Given the description of an element on the screen output the (x, y) to click on. 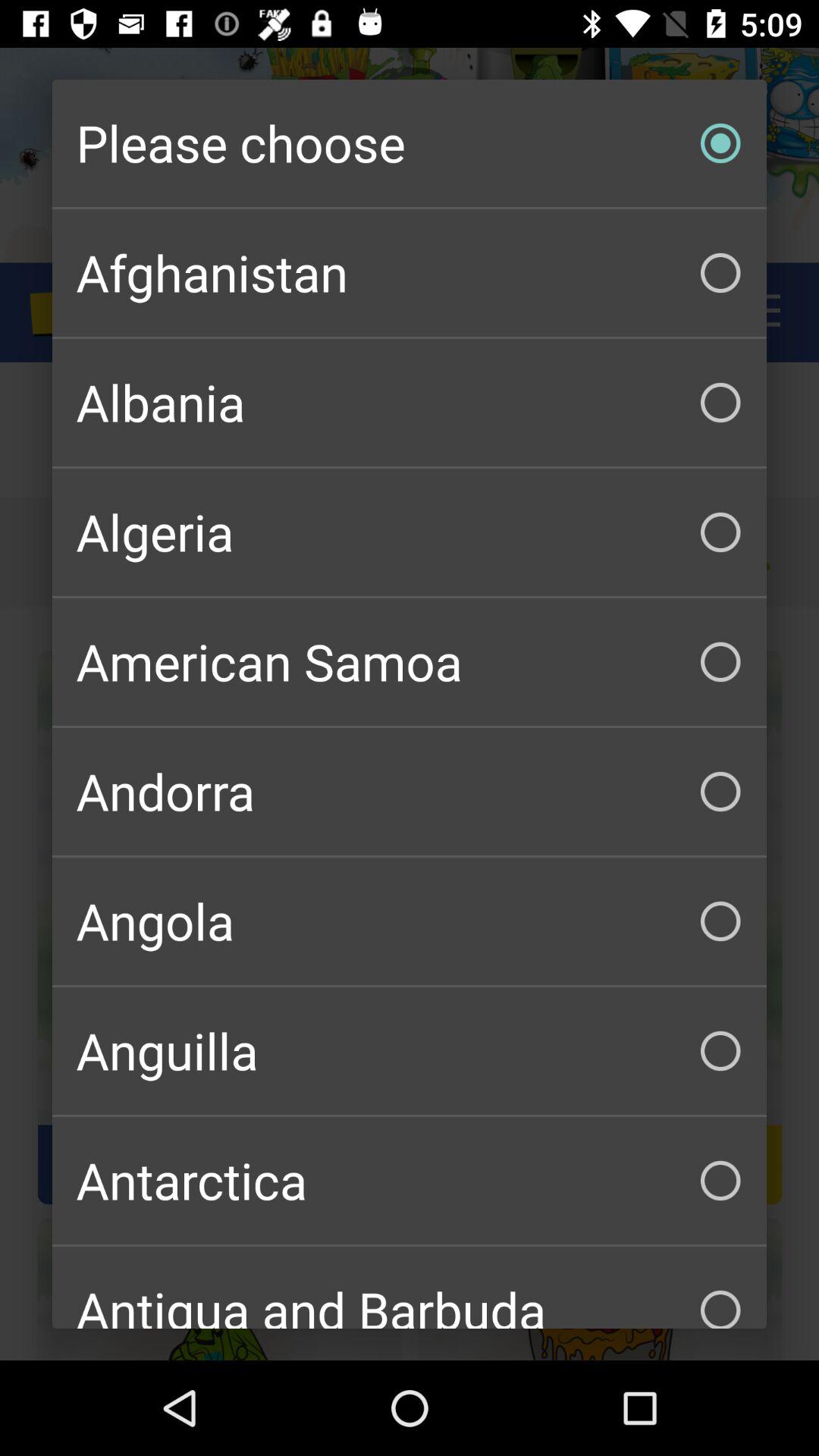
choose checkbox below the algeria icon (409, 661)
